Given the description of an element on the screen output the (x, y) to click on. 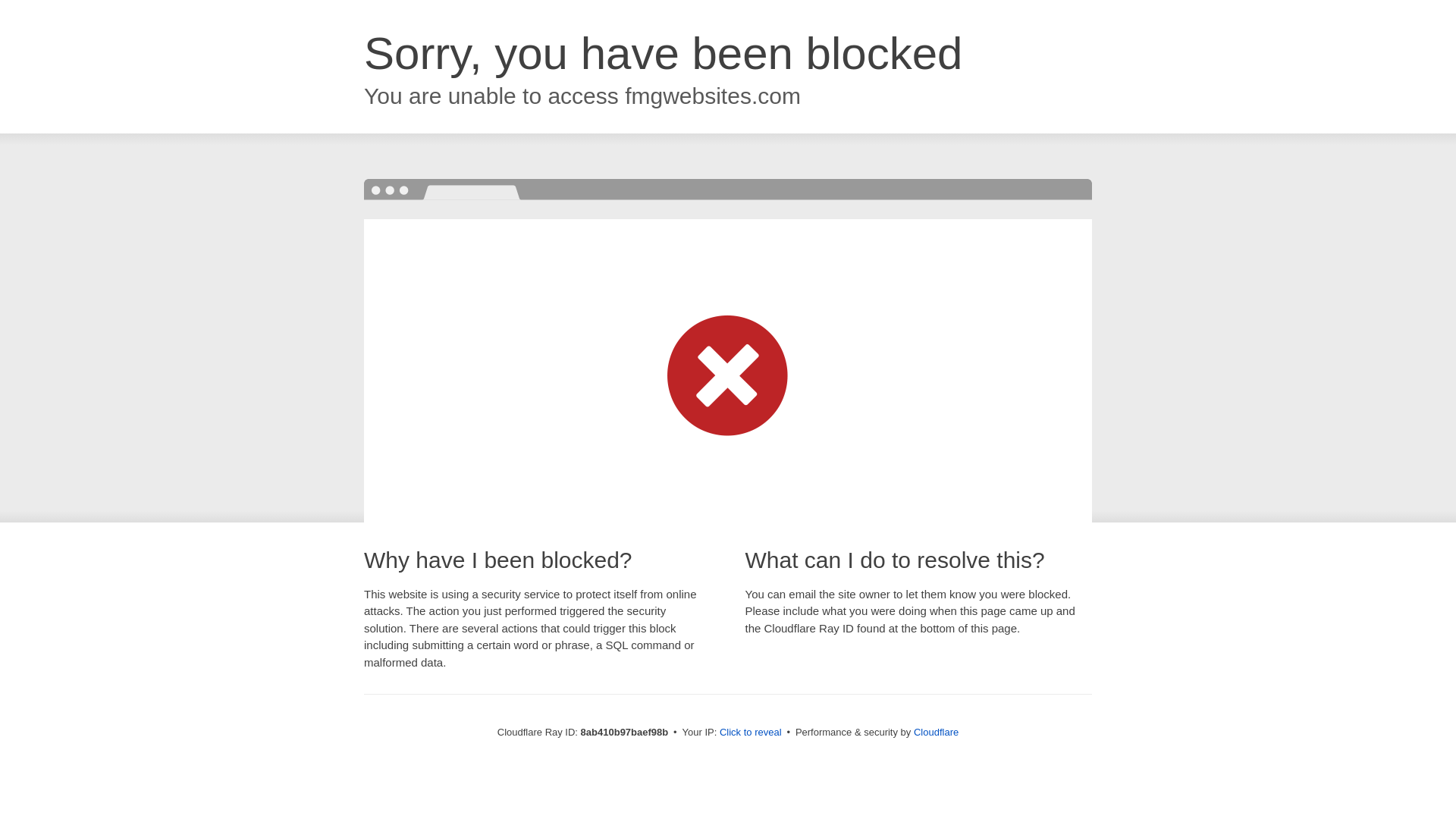
Click to reveal (750, 732)
Cloudflare (936, 731)
